Given the description of an element on the screen output the (x, y) to click on. 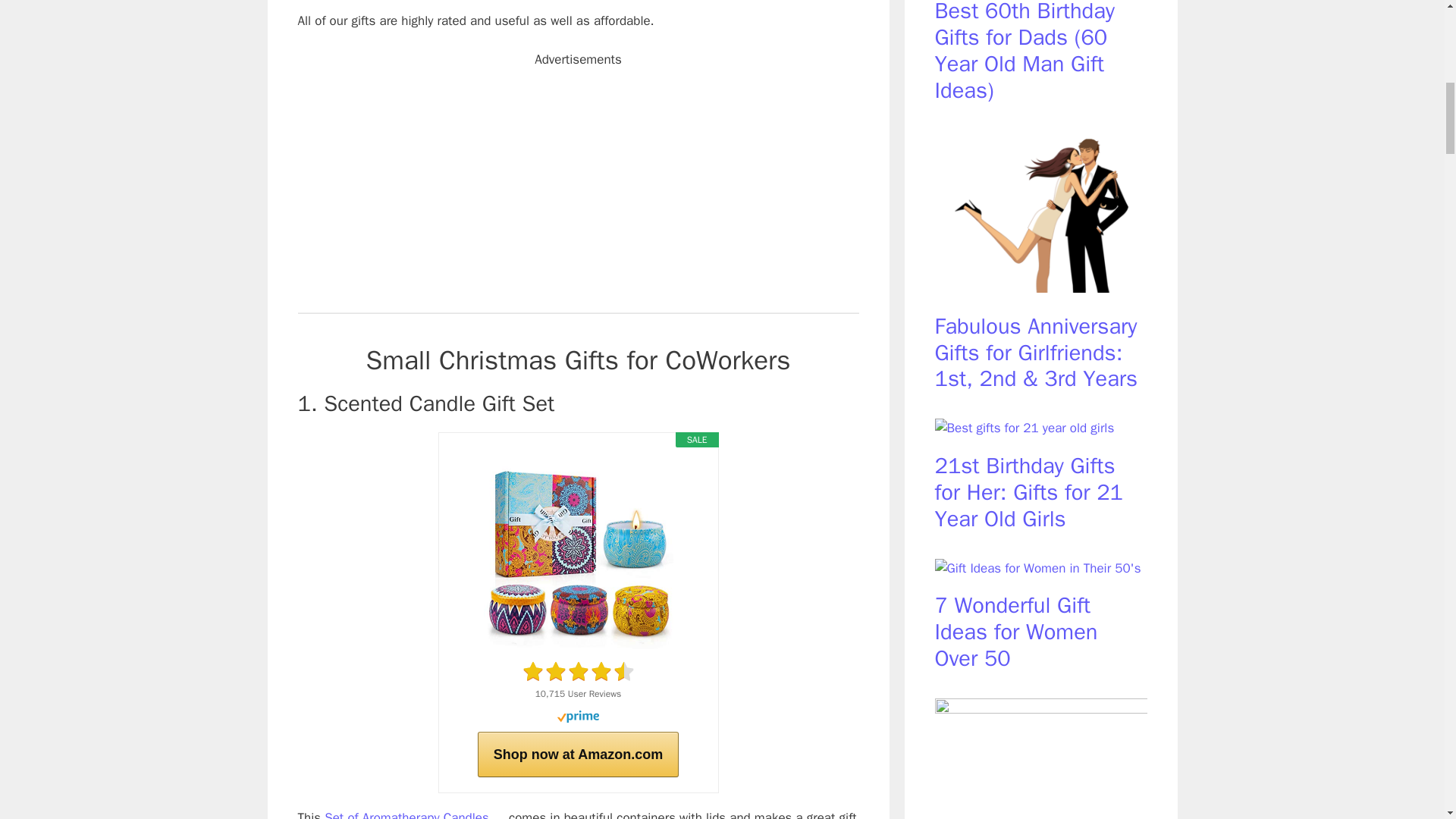
Set of Aromatherapy Candles (499, 814)
Shop now at Amazon.com (577, 754)
Reviews on Amazon (577, 671)
Amazon Prime (577, 718)
Scented Candles Gifts Set for... (577, 554)
Set of Aromatherapy Candles (406, 814)
